Given the description of an element on the screen output the (x, y) to click on. 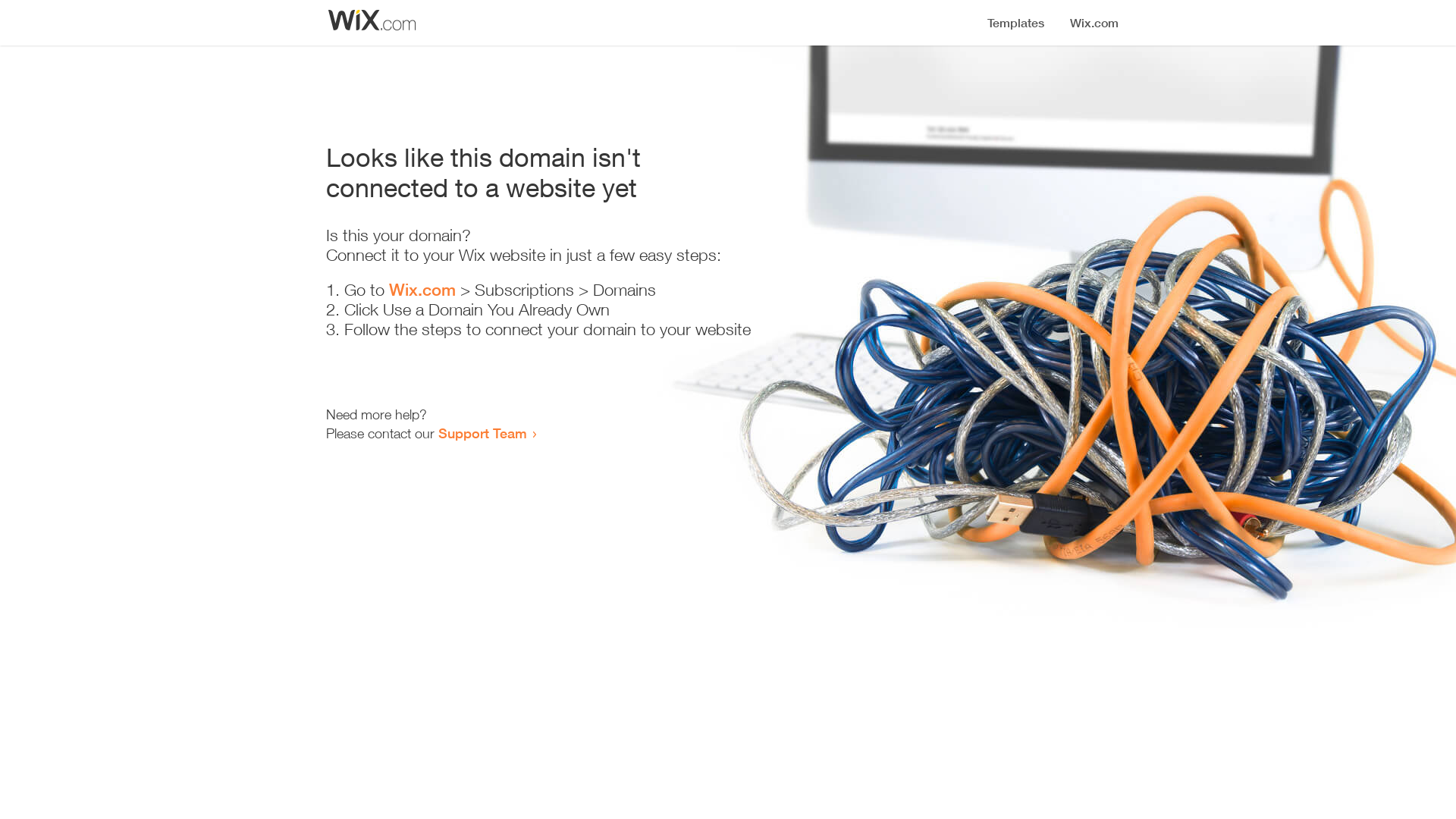
Support Team Element type: text (482, 432)
Wix.com Element type: text (422, 289)
